Given the description of an element on the screen output the (x, y) to click on. 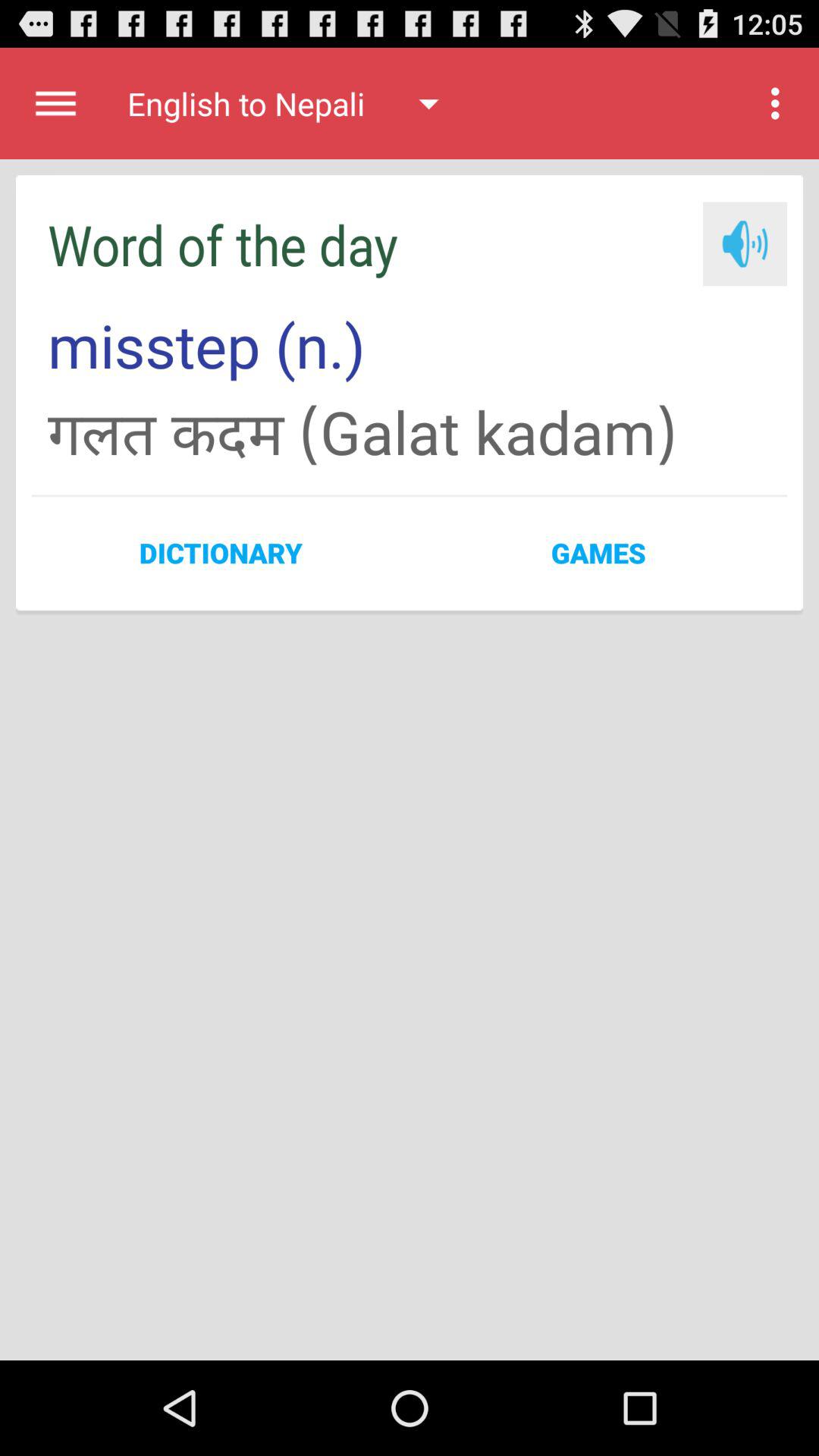
go to speaker button (744, 243)
